Given the description of an element on the screen output the (x, y) to click on. 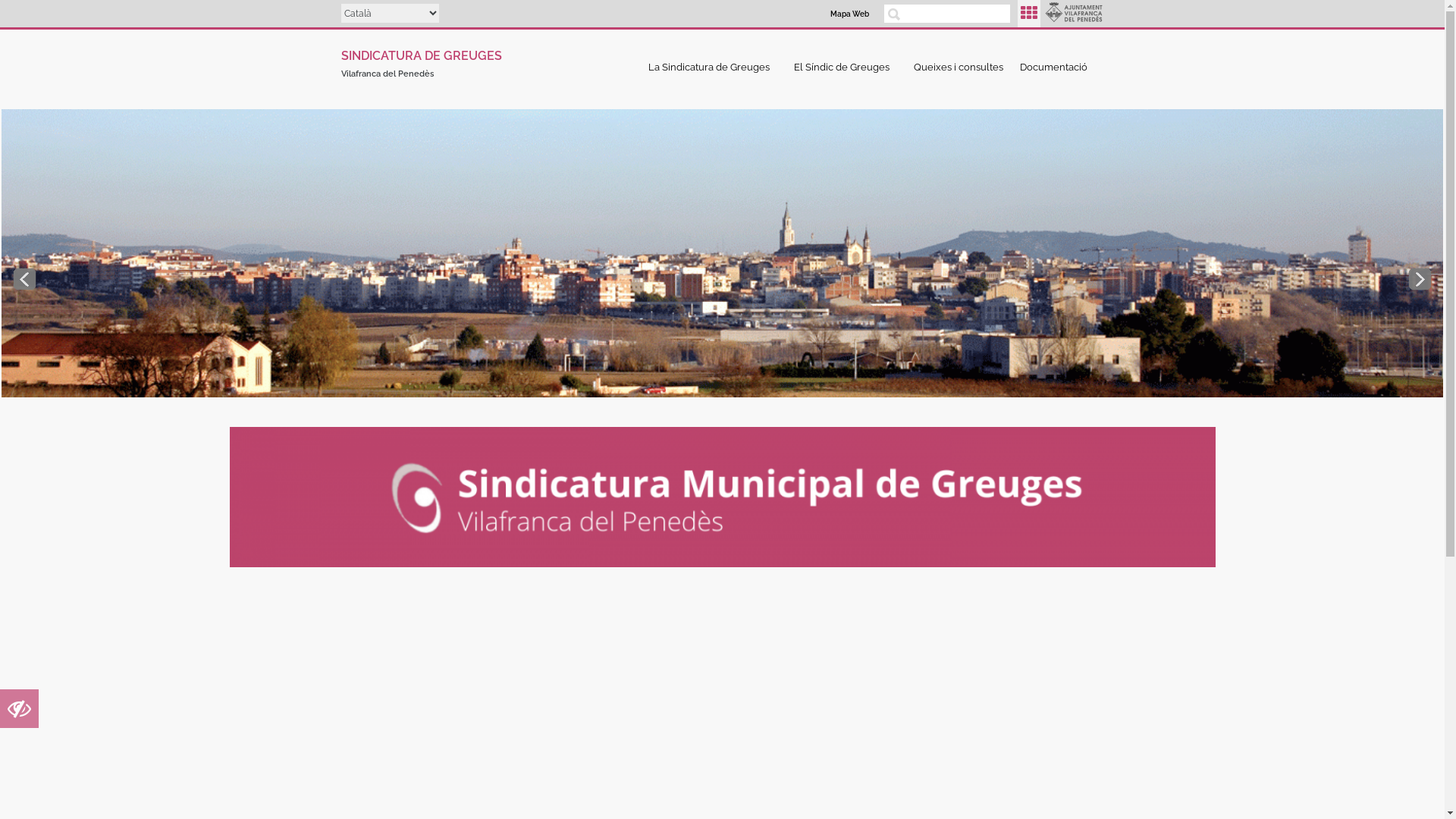
SINDICATURA DE GREUGES Element type: text (421, 53)
La Sindicatura de Greuges Element type: text (712, 66)
Queixes i consultes Element type: text (958, 66)
Mapa Web Element type: text (849, 14)
Accessibilitat Element type: hover (19, 712)
Anterior Element type: text (24, 278)
